Given the description of an element on the screen output the (x, y) to click on. 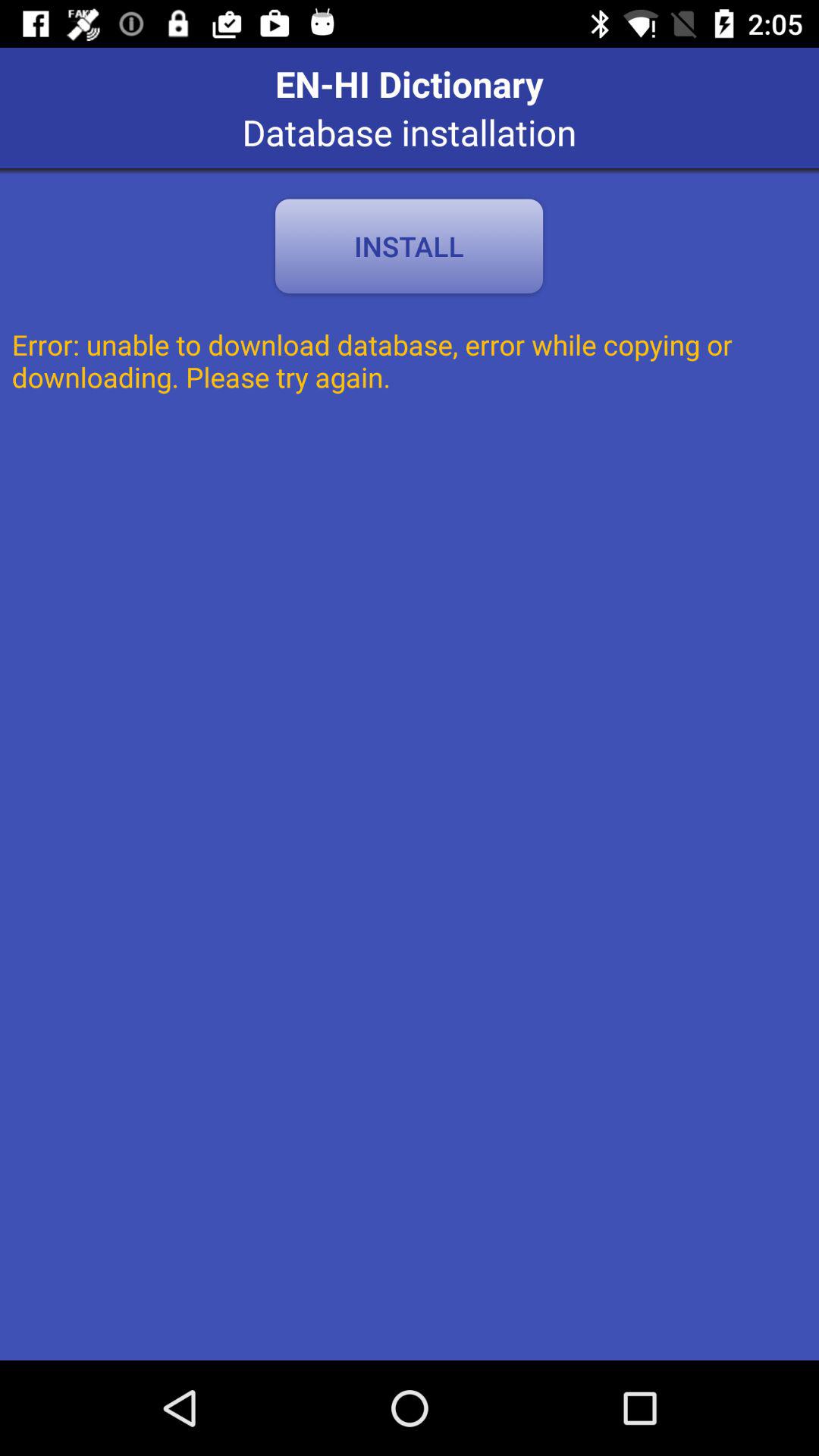
open the install icon (408, 246)
